Given the description of an element on the screen output the (x, y) to click on. 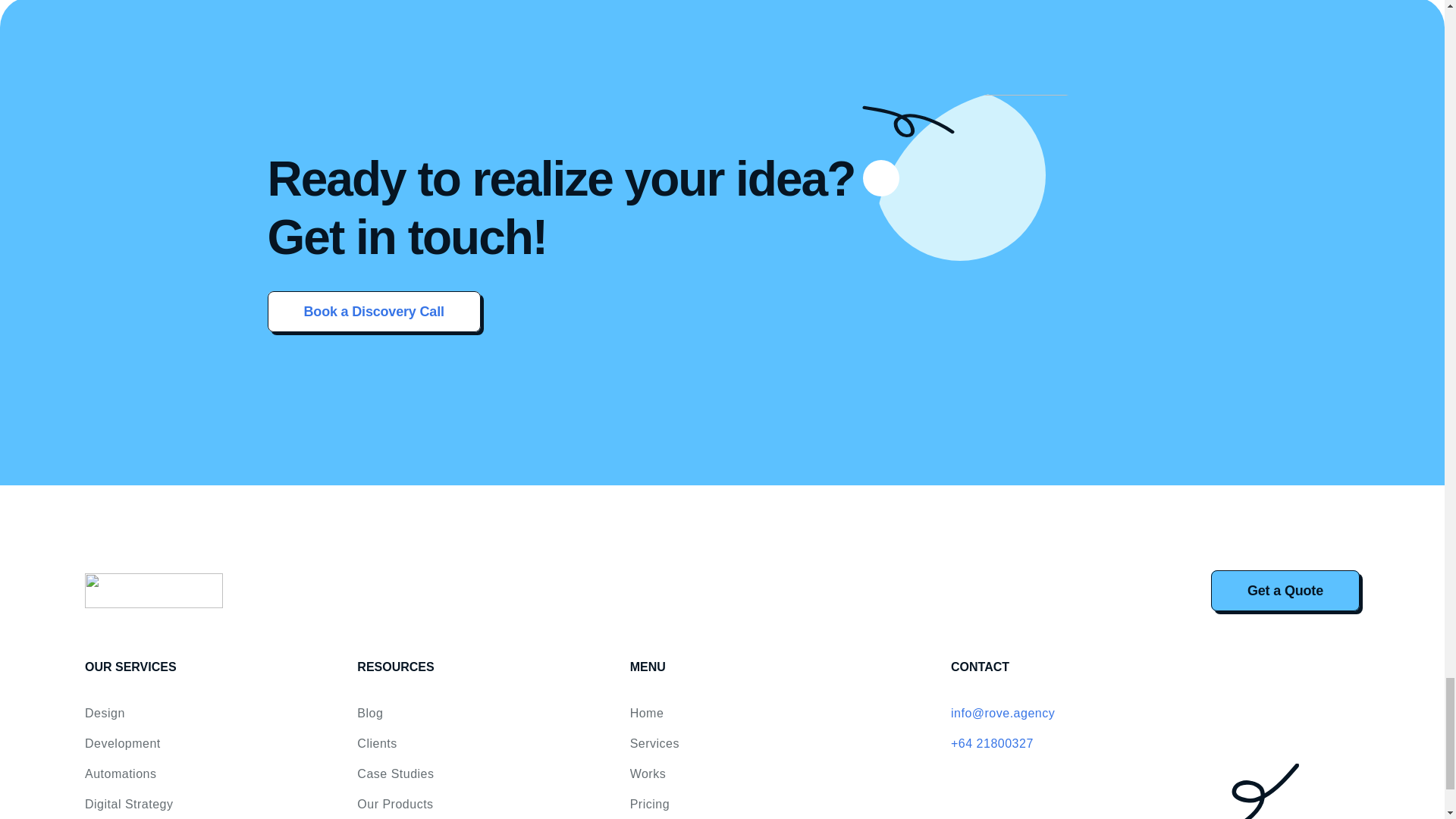
Development (122, 743)
Book a Discovery Call (373, 310)
Get a Quote (1285, 590)
Design (104, 712)
